Given the description of an element on the screen output the (x, y) to click on. 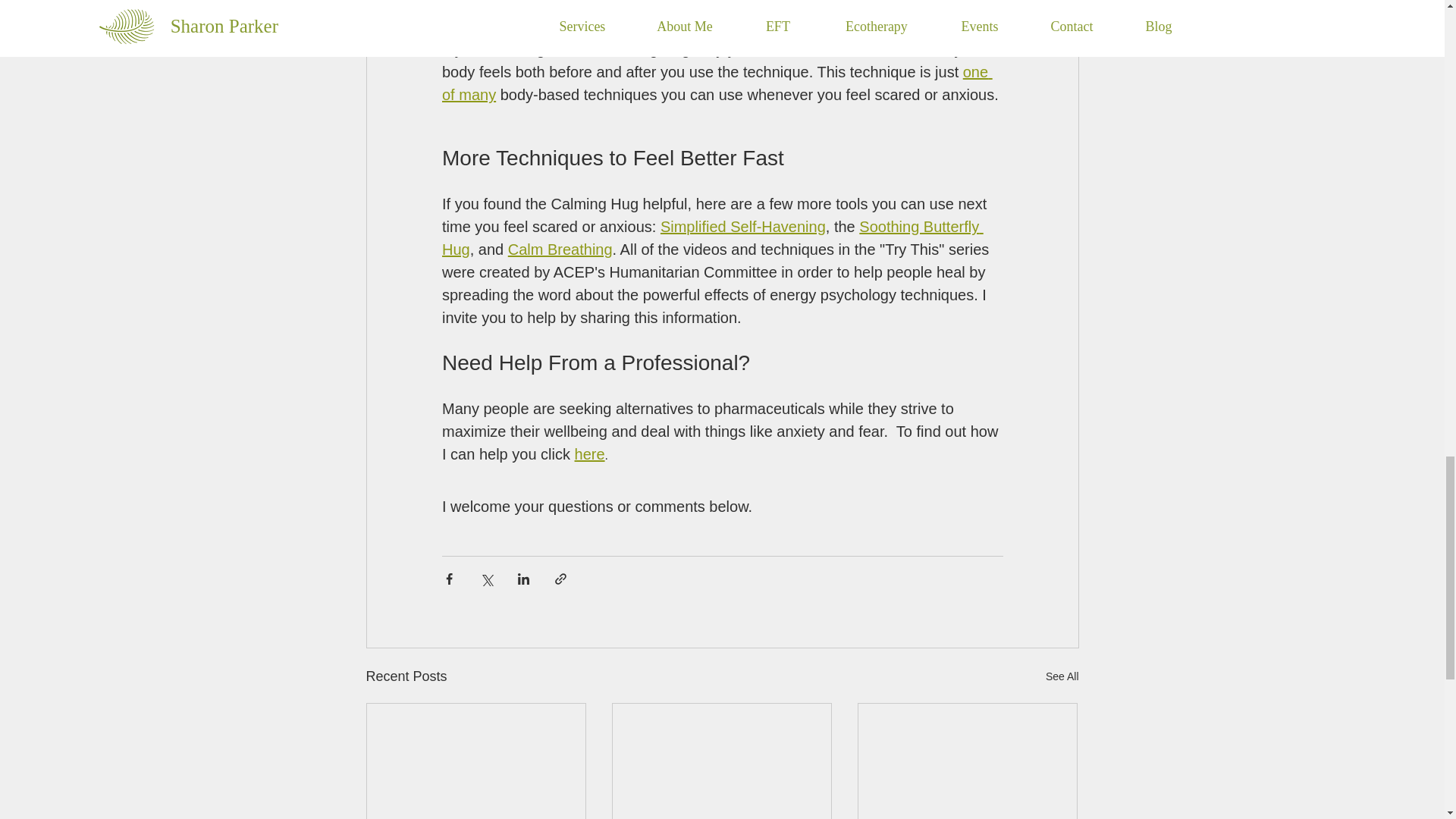
Simplified Self-Havening (742, 227)
one of many (716, 84)
here (588, 454)
See All (1061, 676)
Calm Breathing (558, 250)
Soothing Butterfly Hug (711, 239)
